Given the description of an element on the screen output the (x, y) to click on. 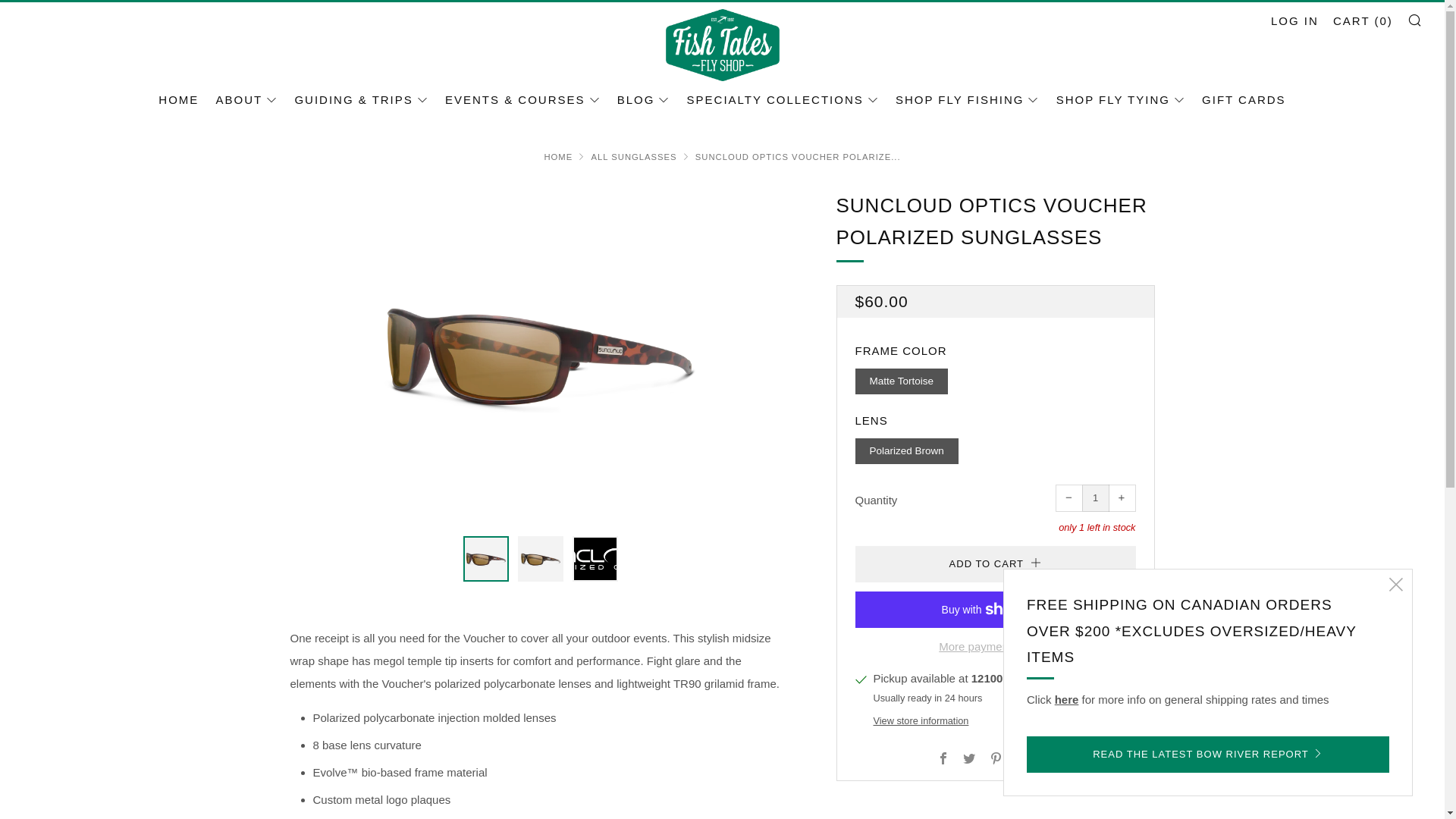
Home (557, 156)
1 (1094, 497)
